Given the description of an element on the screen output the (x, y) to click on. 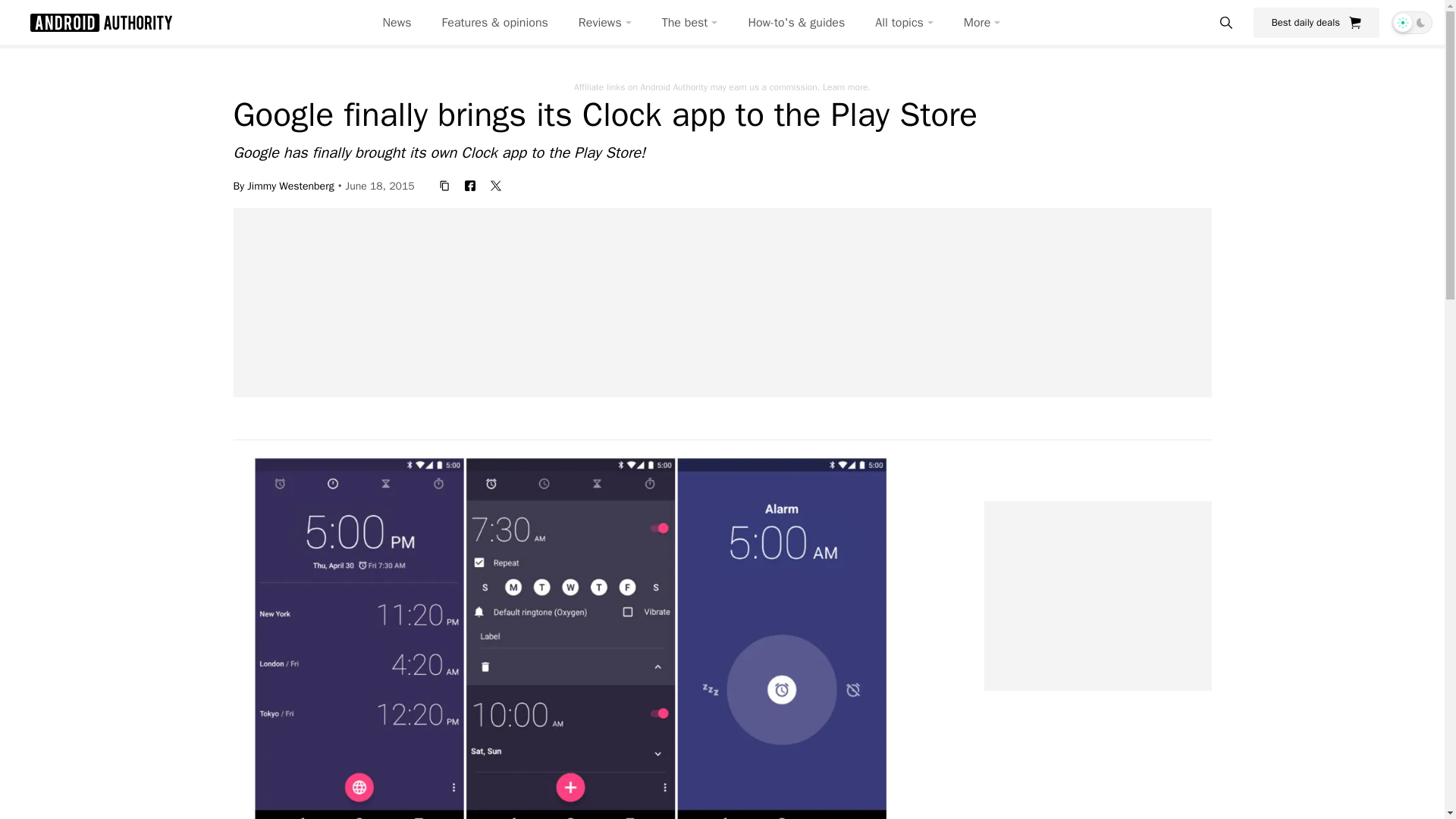
Learn more. (846, 86)
facebook (470, 185)
The best (689, 22)
Jimmy Westenberg (290, 185)
3rd party ad content (722, 302)
Best daily deals (1315, 22)
Reviews (604, 22)
twitter (495, 185)
All topics (904, 22)
